Given the description of an element on the screen output the (x, y) to click on. 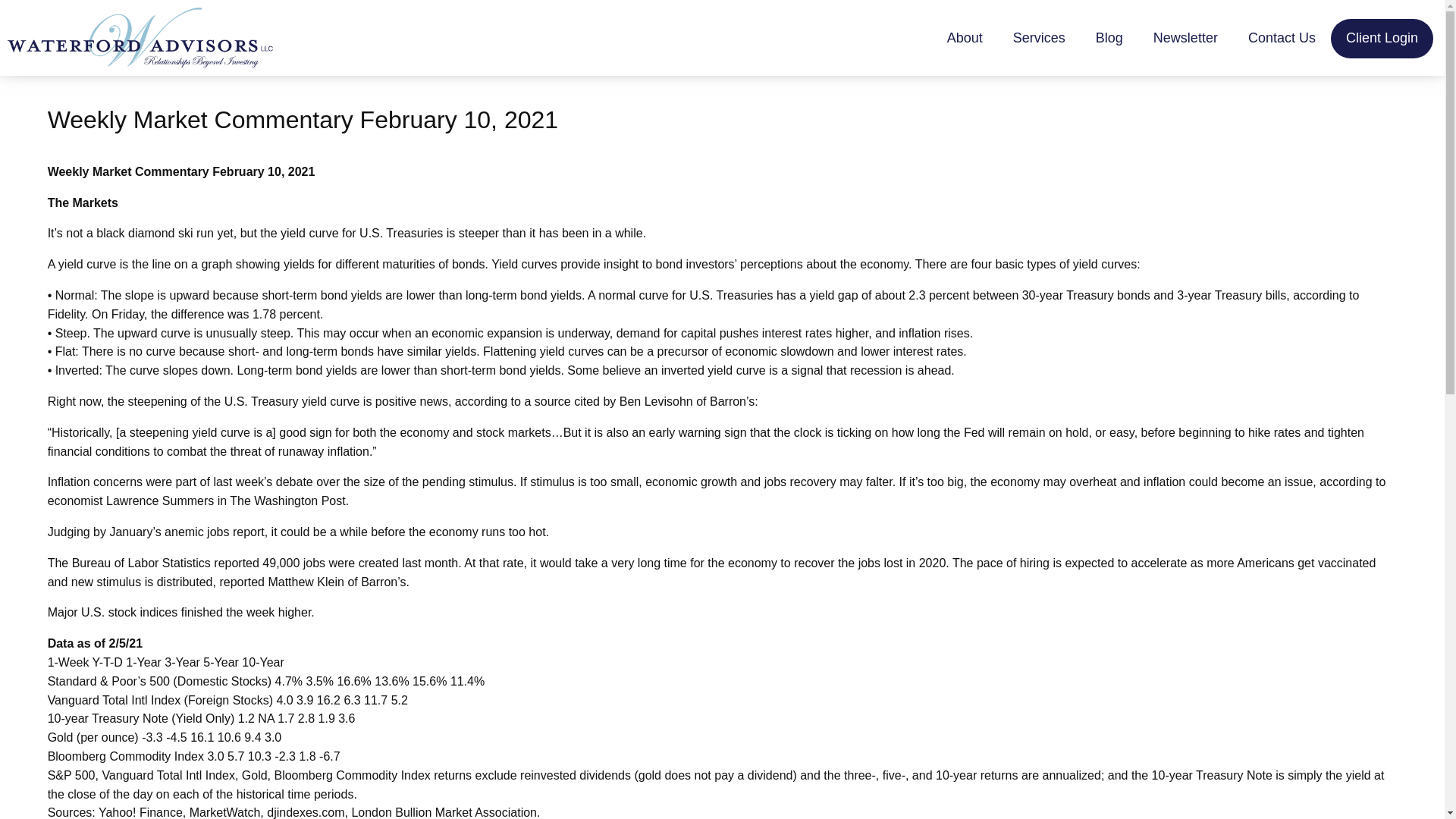
Blog (1109, 38)
About (964, 38)
Contact Us (1281, 38)
Services (1038, 38)
Newsletter (1185, 38)
Client Login (1381, 38)
